Given the description of an element on the screen output the (x, y) to click on. 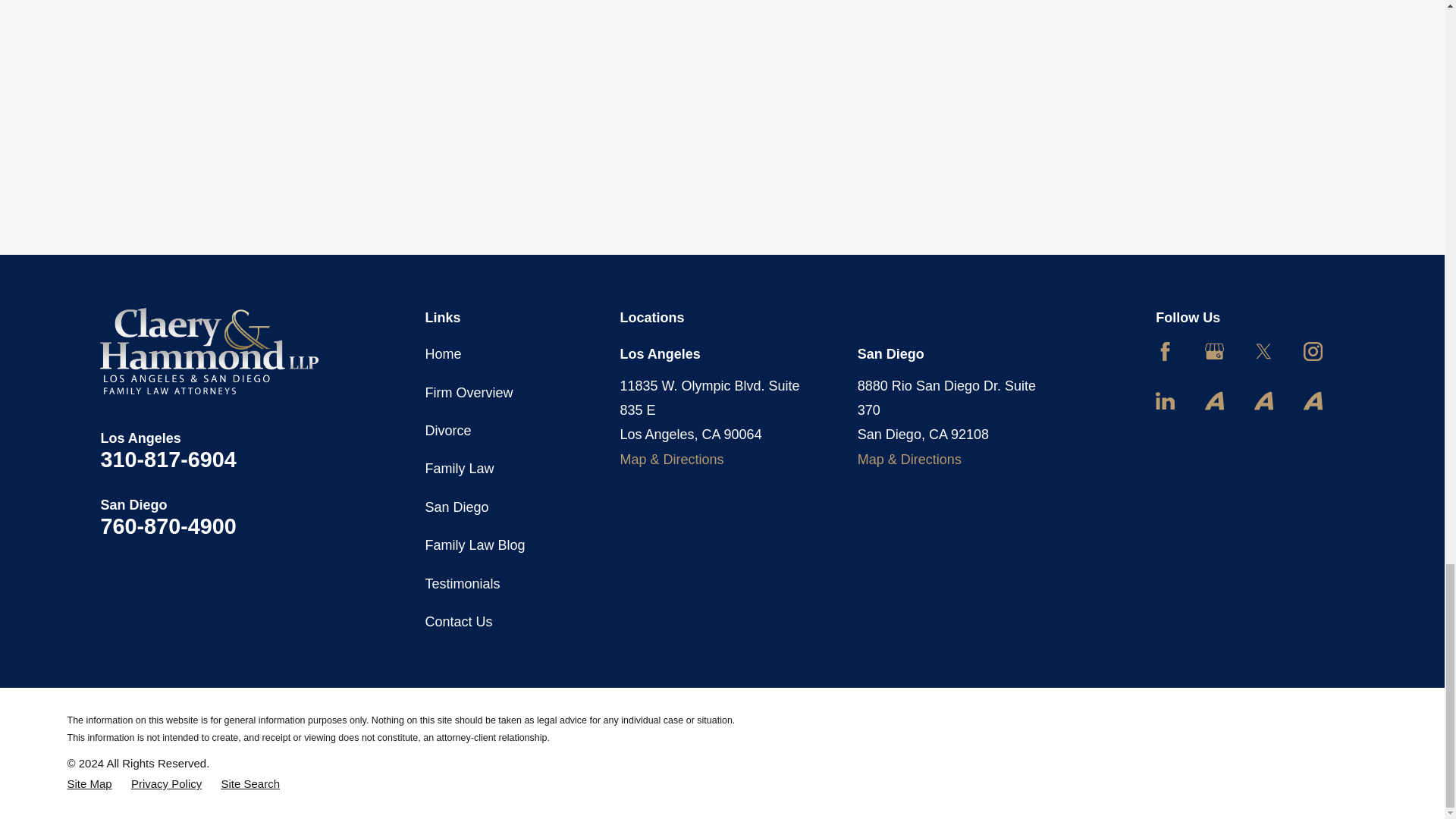
Home (209, 350)
